Given the description of an element on the screen output the (x, y) to click on. 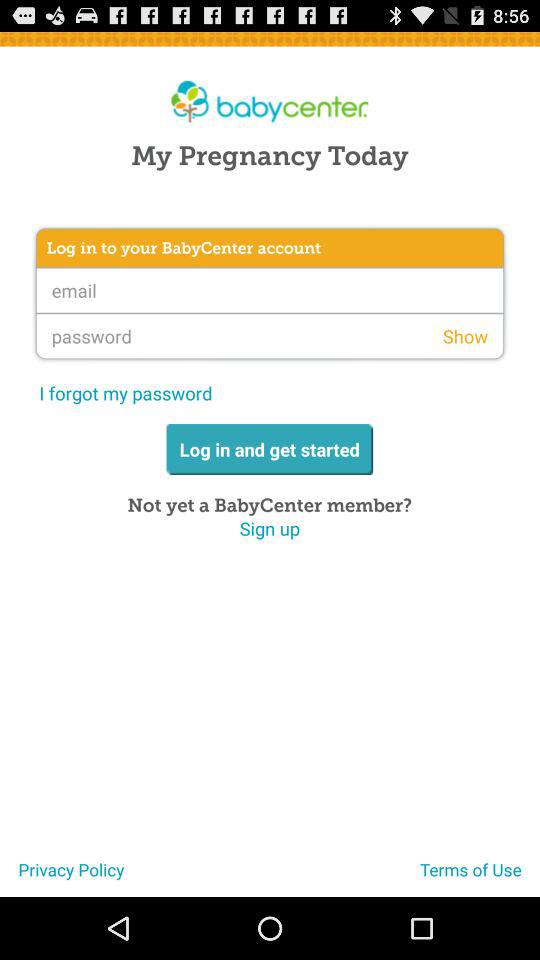
turn on sign up icon (269, 528)
